Given the description of an element on the screen output the (x, y) to click on. 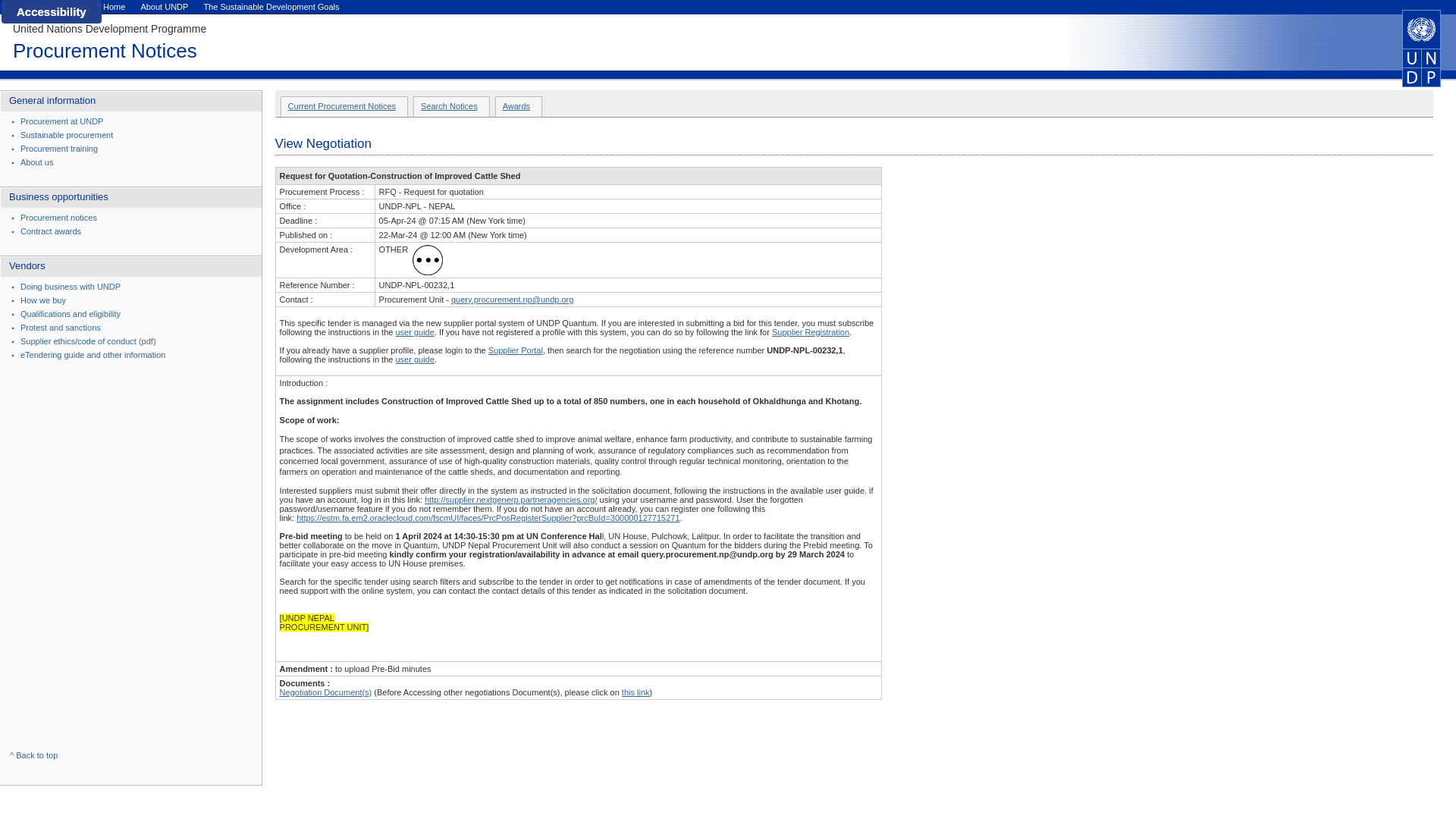
user guide (413, 358)
United Nations Development Programme (109, 28)
Procurement training (58, 148)
Qualifications and eligibility (70, 313)
How we buy (42, 299)
Procurement notices (58, 216)
About UNDP (163, 6)
Click for accessibility menu (51, 11)
The Sustainable Development Goals (271, 6)
Sustainable procurement (66, 134)
Contract awards (50, 230)
eTendering guide and other information (92, 354)
Awards (515, 105)
About us (36, 162)
Current Procurement Notices (342, 105)
